Given the description of an element on the screen output the (x, y) to click on. 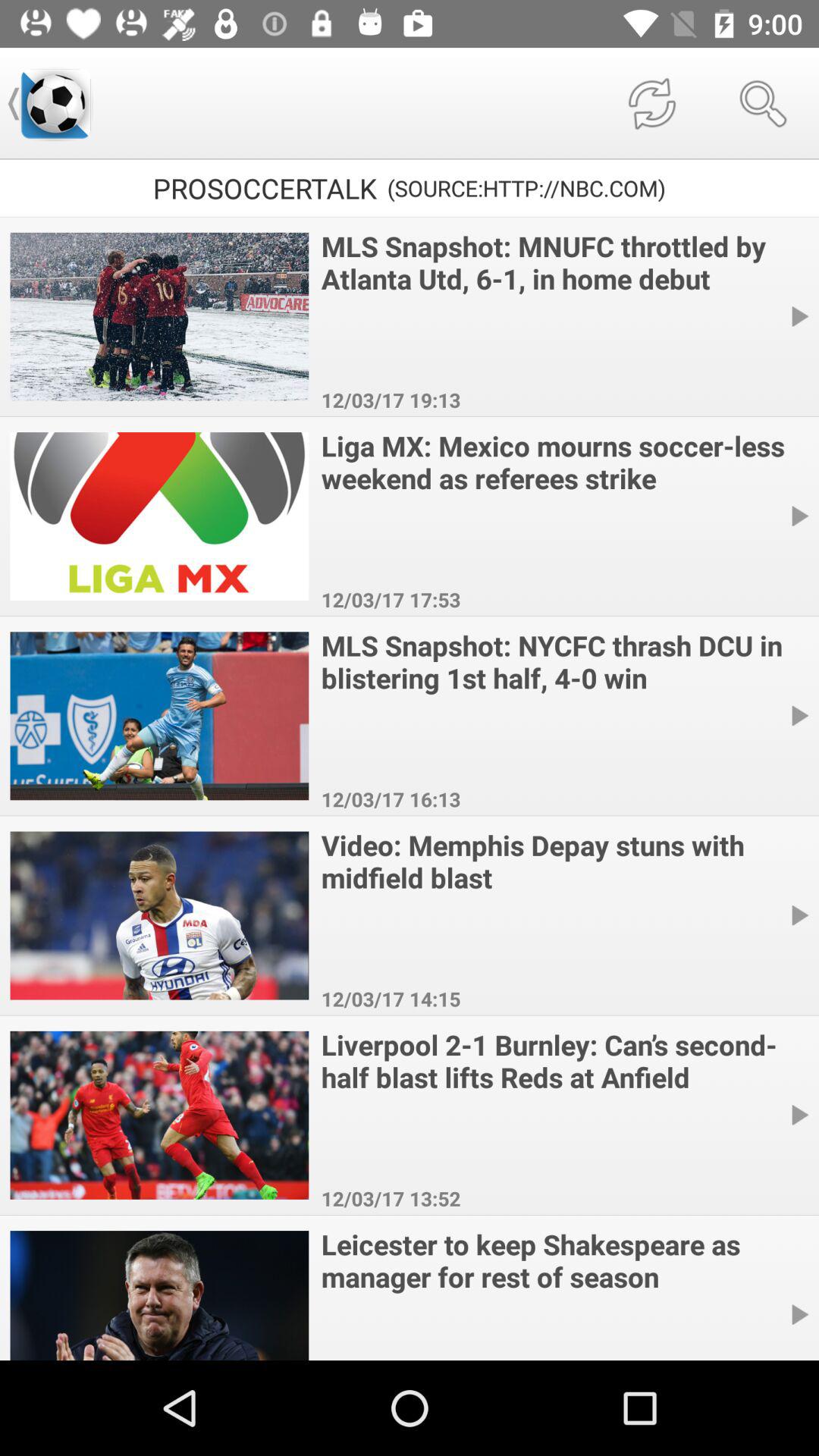
turn on the item above mls snapshot mnufc (763, 103)
